Given the description of an element on the screen output the (x, y) to click on. 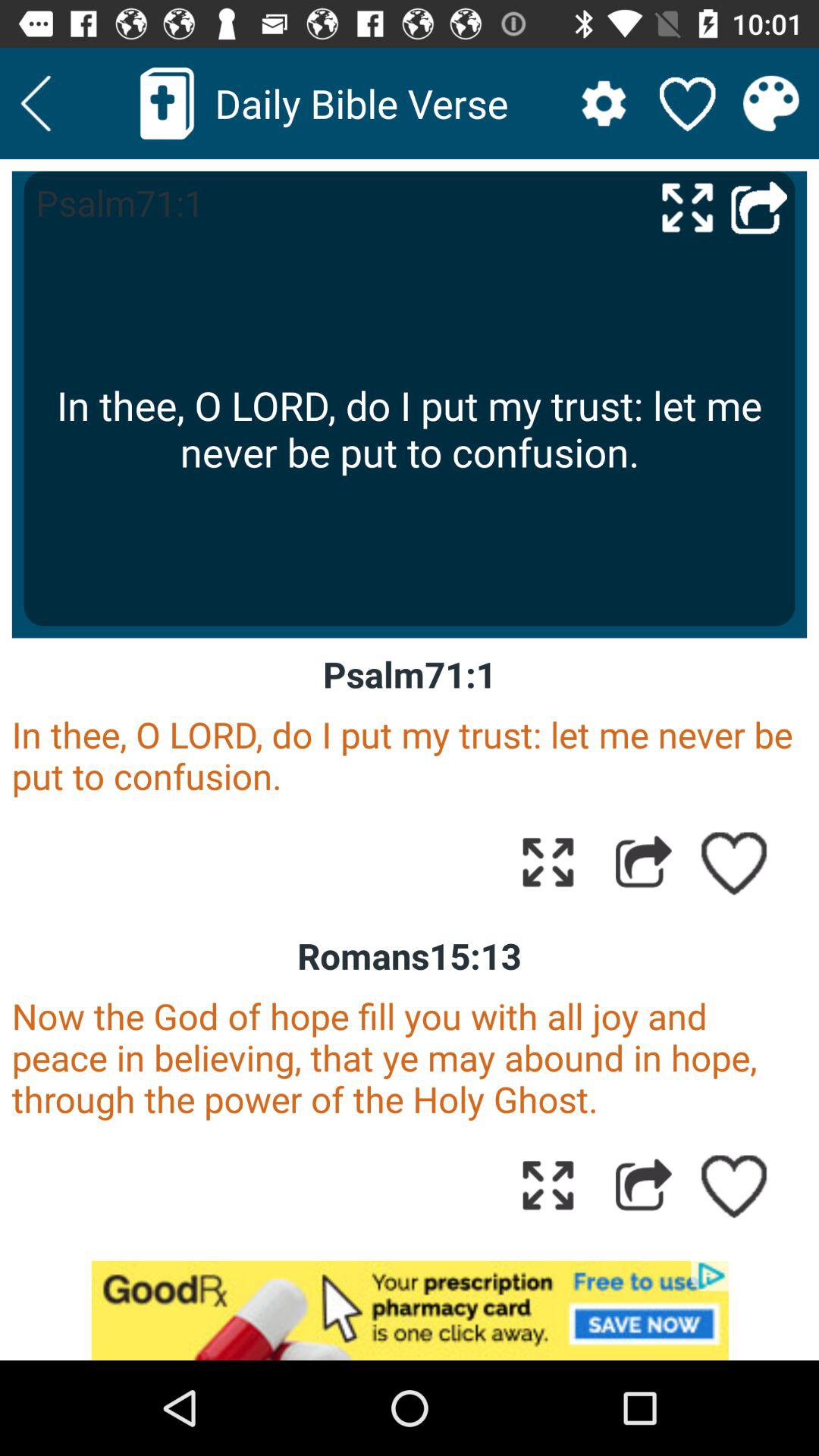
advertisement page (409, 1310)
